Given the description of an element on the screen output the (x, y) to click on. 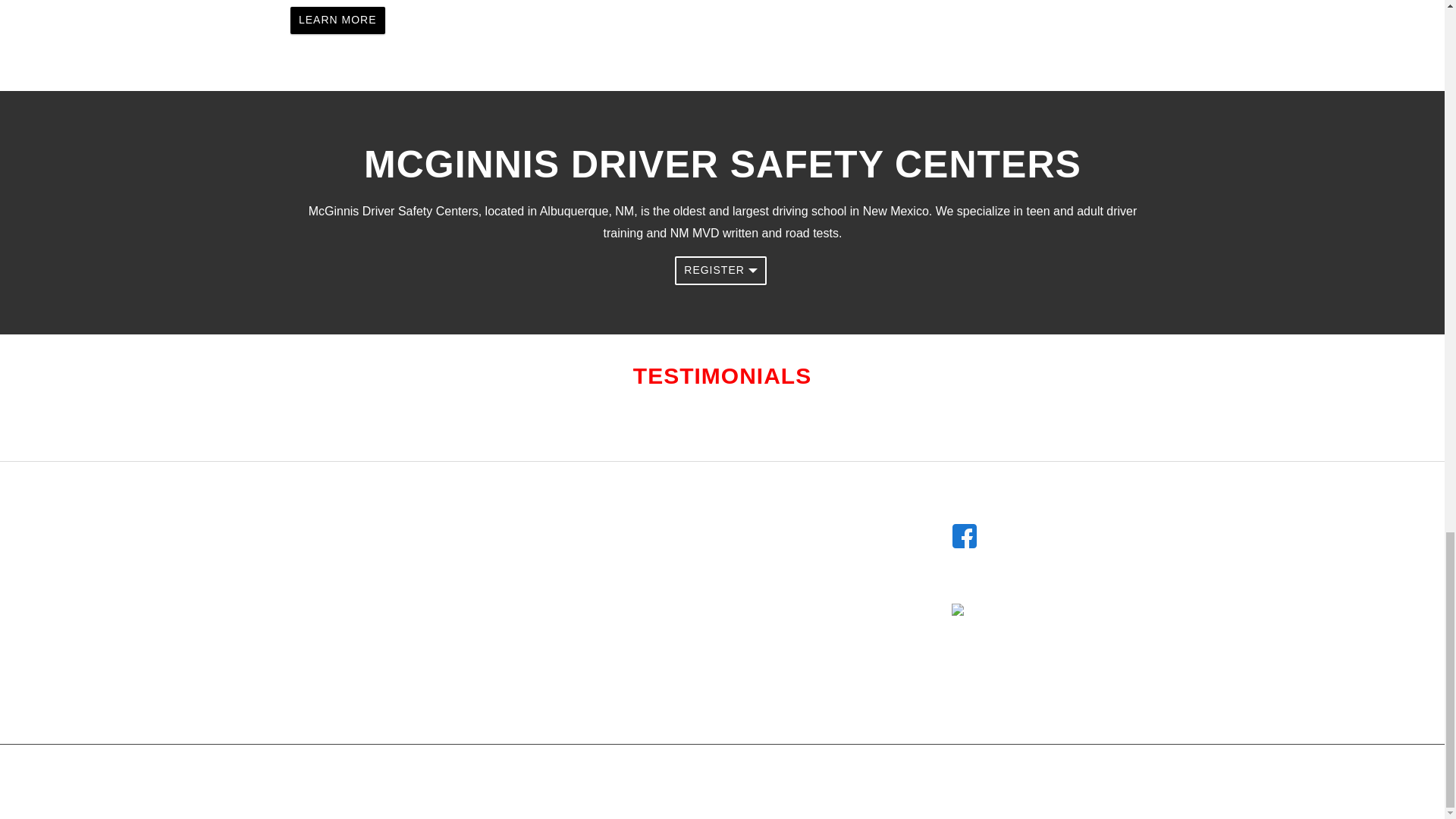
View On Map (588, 556)
Email (608, 656)
LEARN MORE (336, 20)
REGISTER (720, 270)
We use FERPA Certified Software by DrivingSchoolSoftware.com (1035, 630)
